Given the description of an element on the screen output the (x, y) to click on. 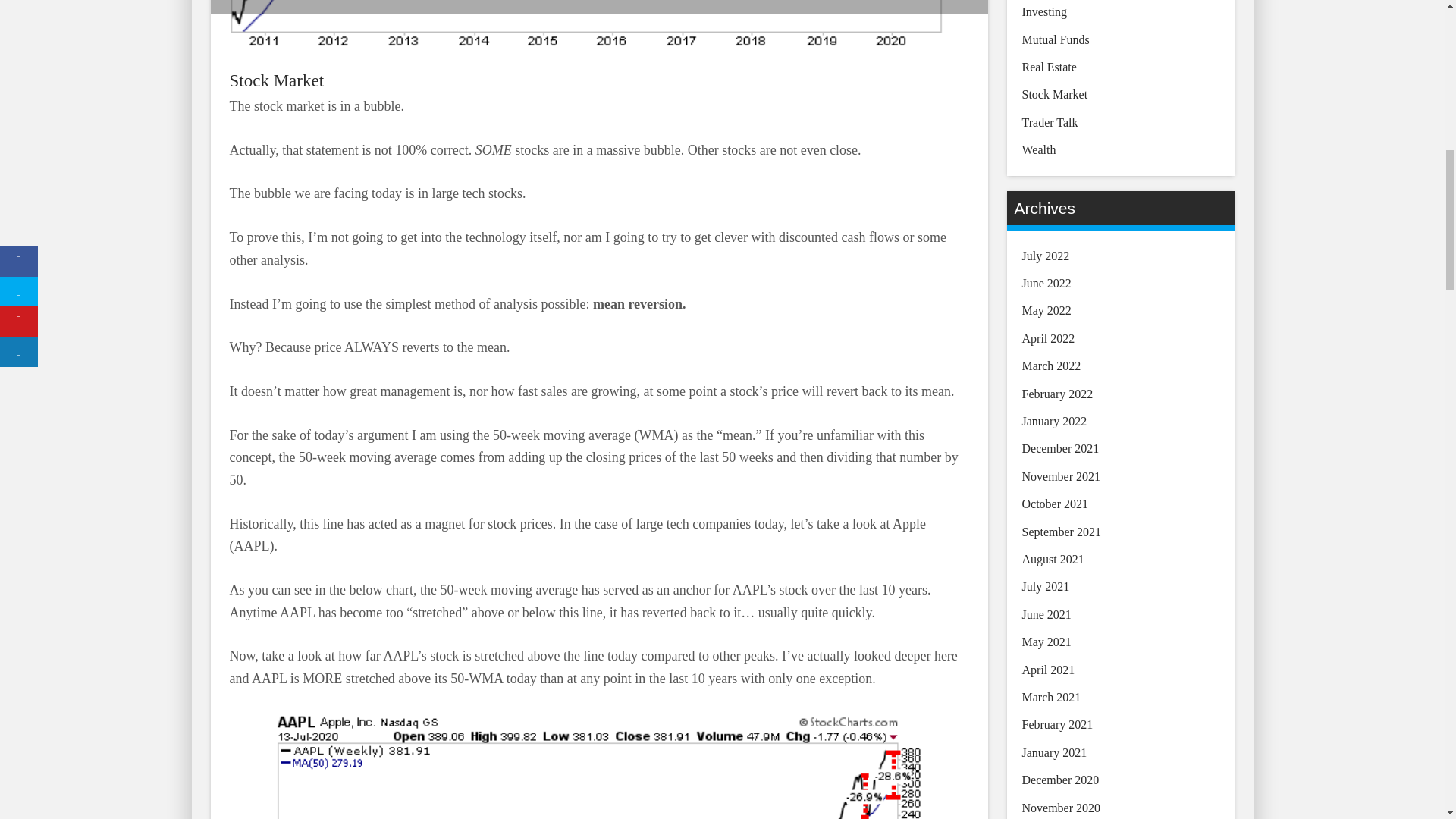
Stock Market (275, 80)
